Given the description of an element on the screen output the (x, y) to click on. 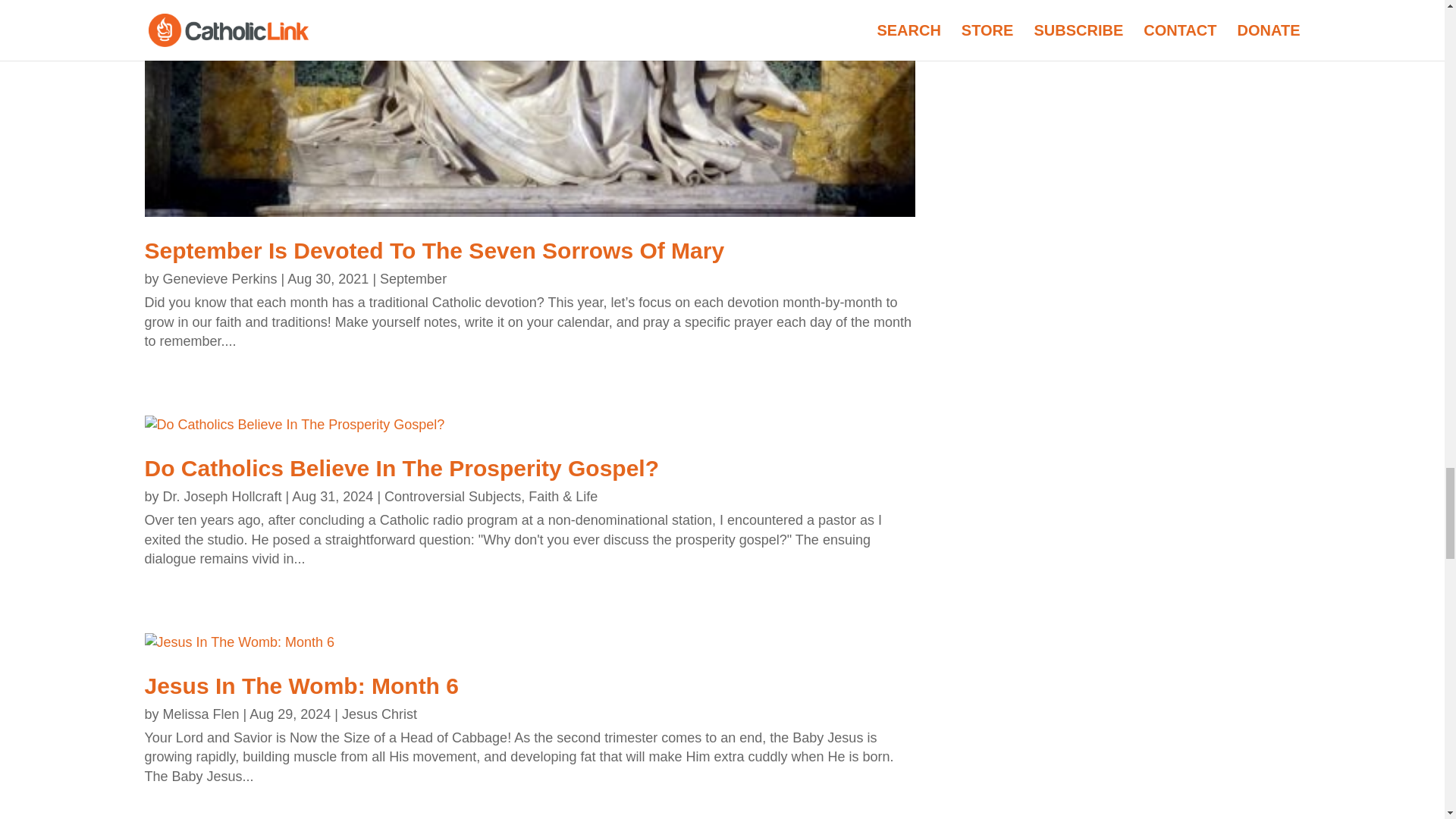
September (413, 278)
Jesus In The Womb: Month 6 (301, 685)
Controversial Subjects (452, 496)
Melissa Flen (201, 713)
September Is Devoted To The Seven Sorrows Of Mary (433, 250)
Dr. Joseph Hollcraft (222, 496)
Do Catholics Believe In The Prosperity Gospel? (401, 467)
Posts by Melissa Flen (201, 713)
Posts by Genevieve Perkins (220, 278)
Jesus Christ (379, 713)
